Given the description of an element on the screen output the (x, y) to click on. 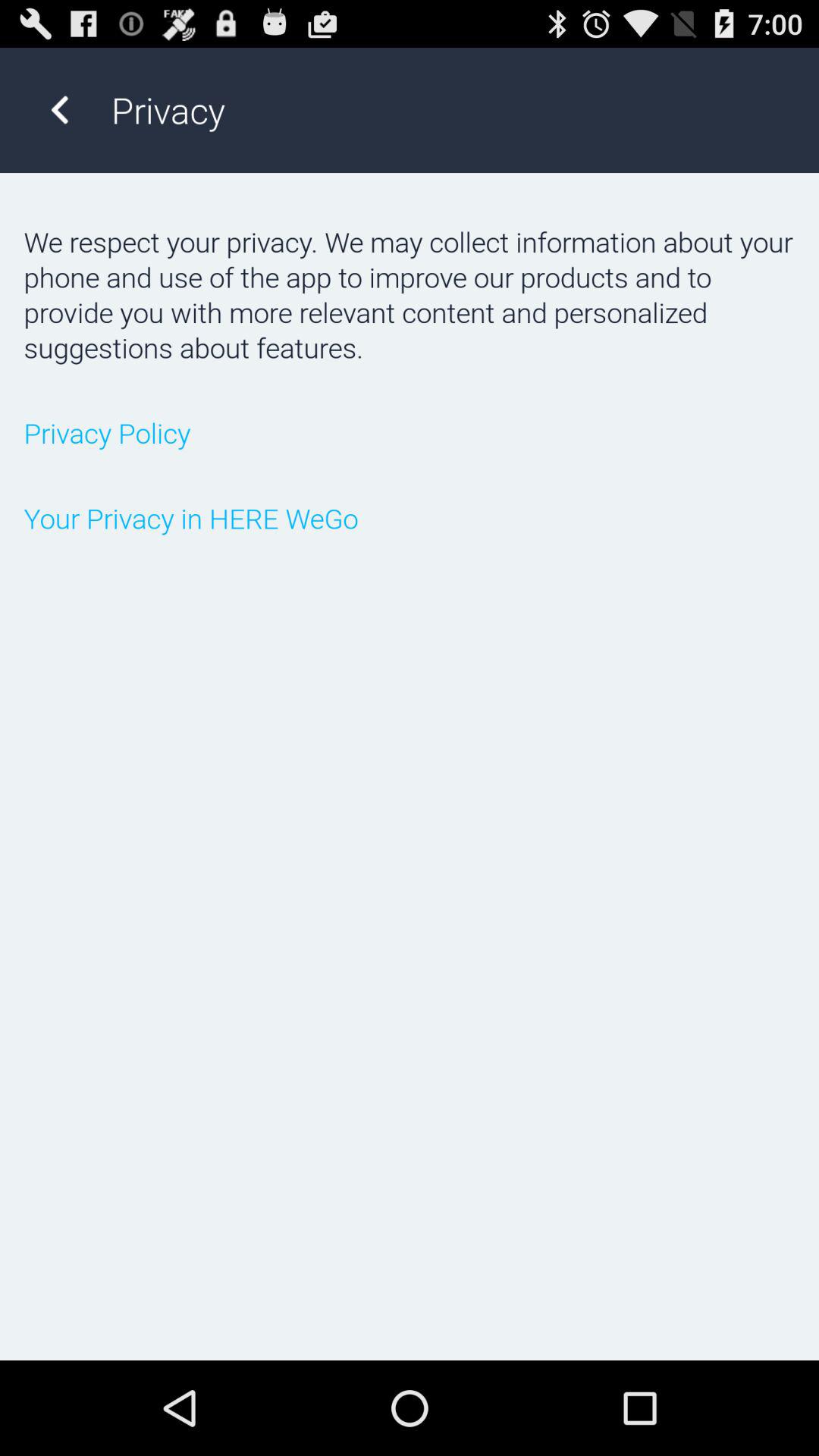
click the icon below we respect your icon (409, 432)
